Given the description of an element on the screen output the (x, y) to click on. 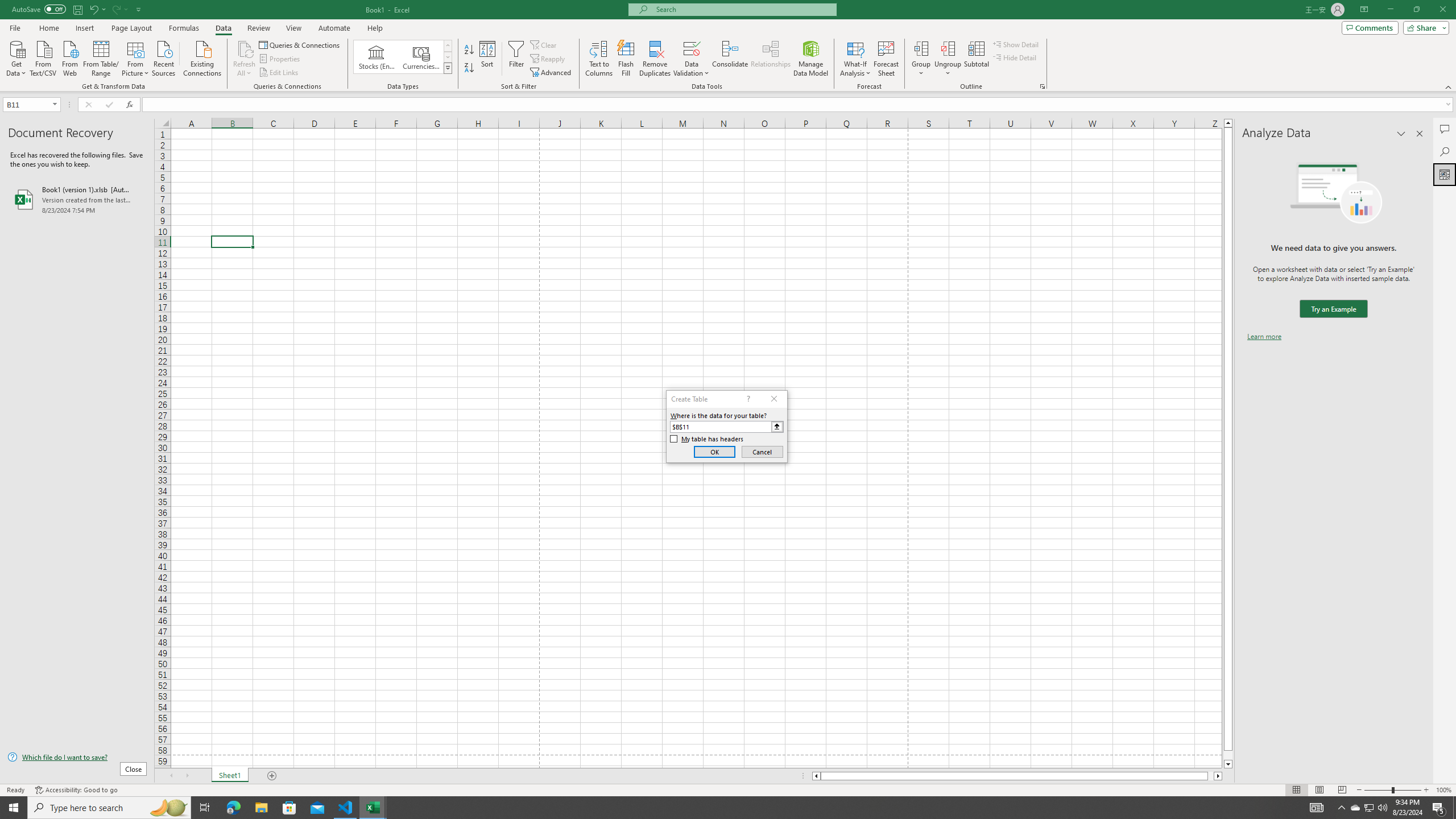
From Table/Range (100, 57)
Data Validation... (691, 48)
Row Down (448, 56)
Manage Data Model (810, 58)
From Text/CSV (43, 57)
Class: NetUIImage (447, 68)
Collapse the Ribbon (1448, 86)
Add Sheet (272, 775)
Analyze Data (1444, 173)
Data Types (448, 67)
Filter (515, 58)
AutoSave (38, 9)
Relationships (770, 58)
